Given the description of an element on the screen output the (x, y) to click on. 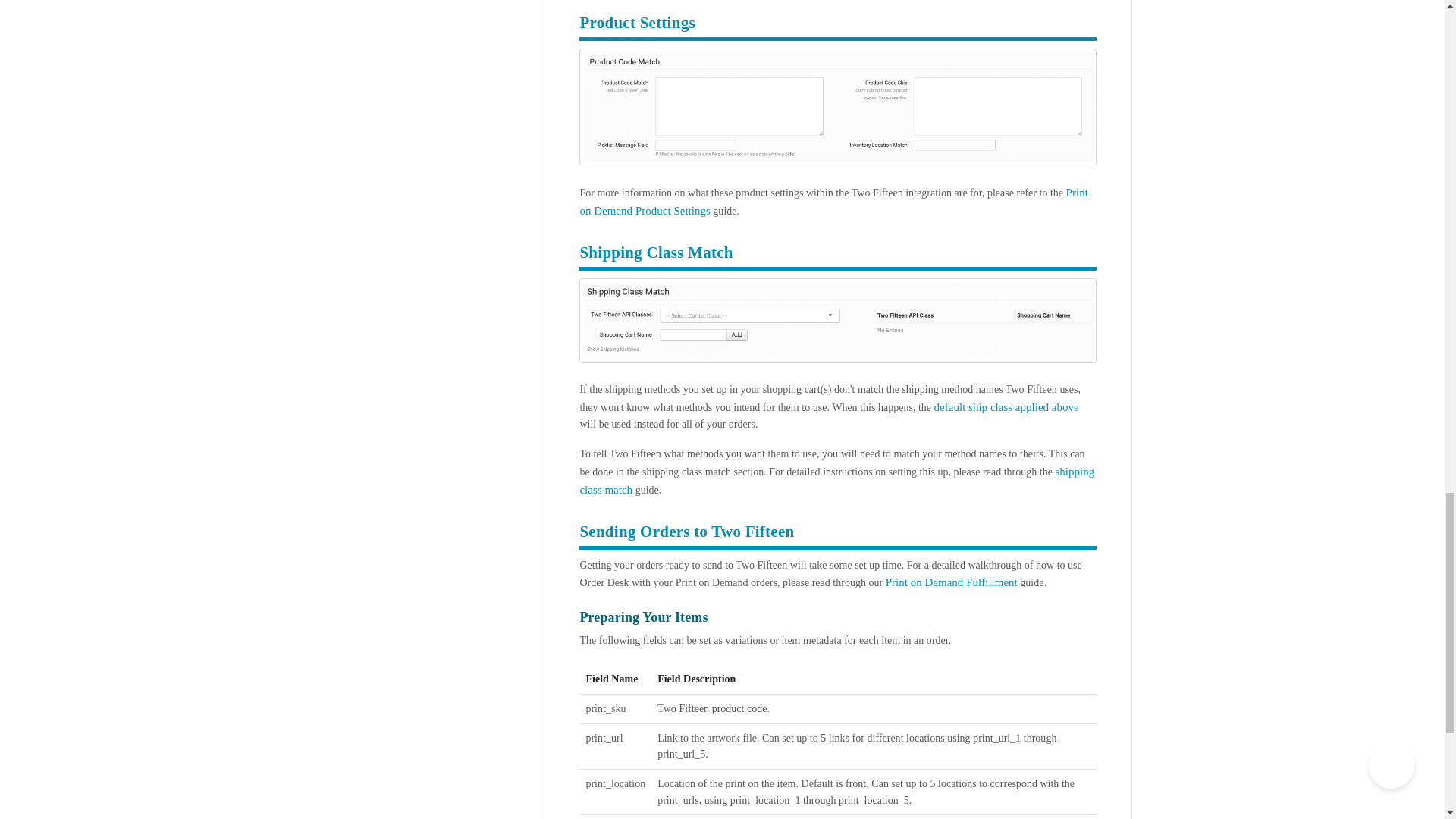
shipping class match (836, 481)
default ship class applied above (1006, 407)
Print on Demand Product Settings (833, 201)
Print on Demand Fulfillment (951, 582)
